Given the description of an element on the screen output the (x, y) to click on. 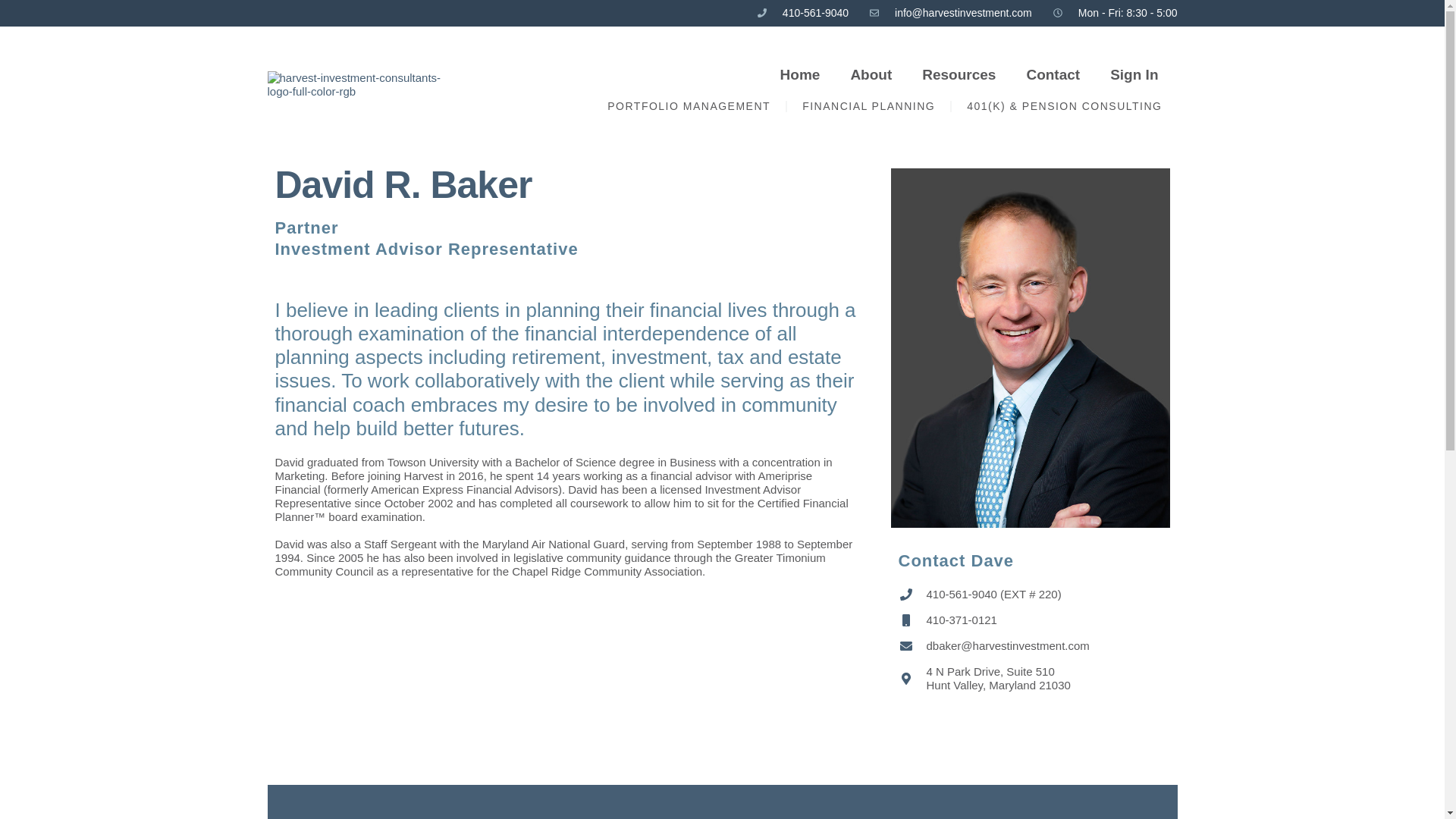
FINANCIAL PLANNING (868, 106)
Home (800, 75)
harvest-investment-consultants-logo-full-color-rgb (361, 84)
410-561-9040 (802, 12)
Resources (958, 75)
About (870, 75)
Sign In (1133, 75)
PORTFOLIO MANAGEMENT (689, 106)
Contact (1052, 75)
